Given the description of an element on the screen output the (x, y) to click on. 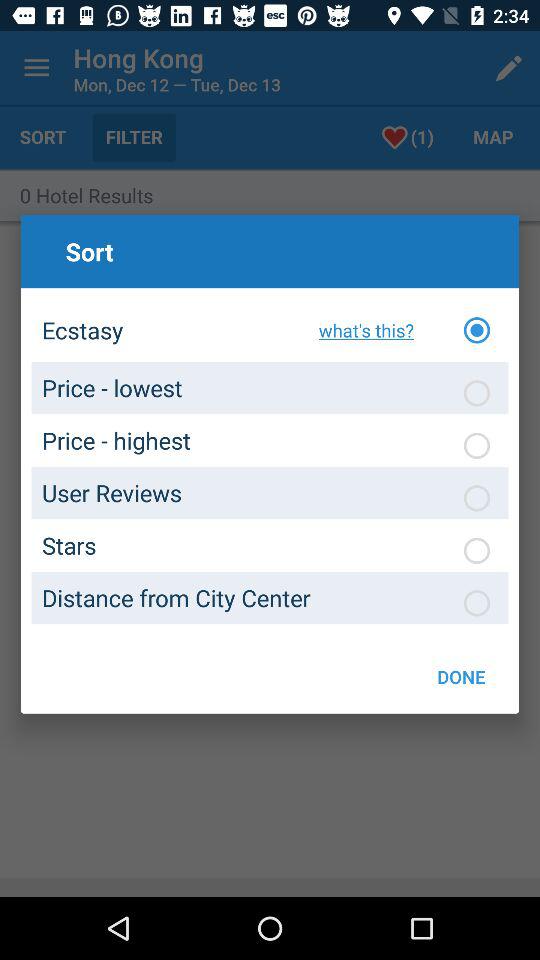
choose your choice (477, 498)
